Given the description of an element on the screen output the (x, y) to click on. 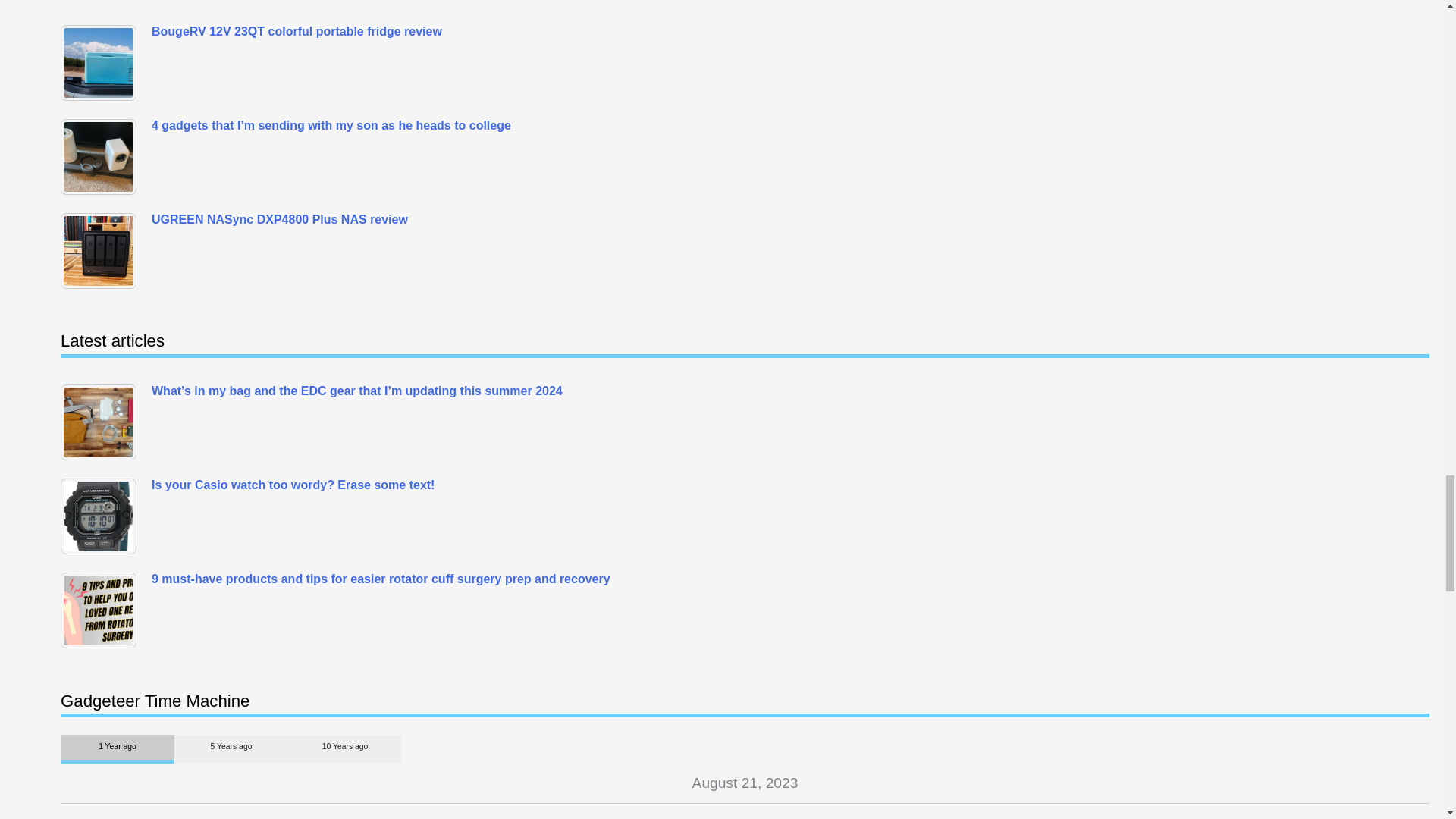
BougeRV 12V 23QT colorful portable fridge review (102, 62)
Is your Casio watch too wordy? Erase some text! (102, 516)
UGREEN NASync DXP4800 Plus NAS review (102, 250)
